Given the description of an element on the screen output the (x, y) to click on. 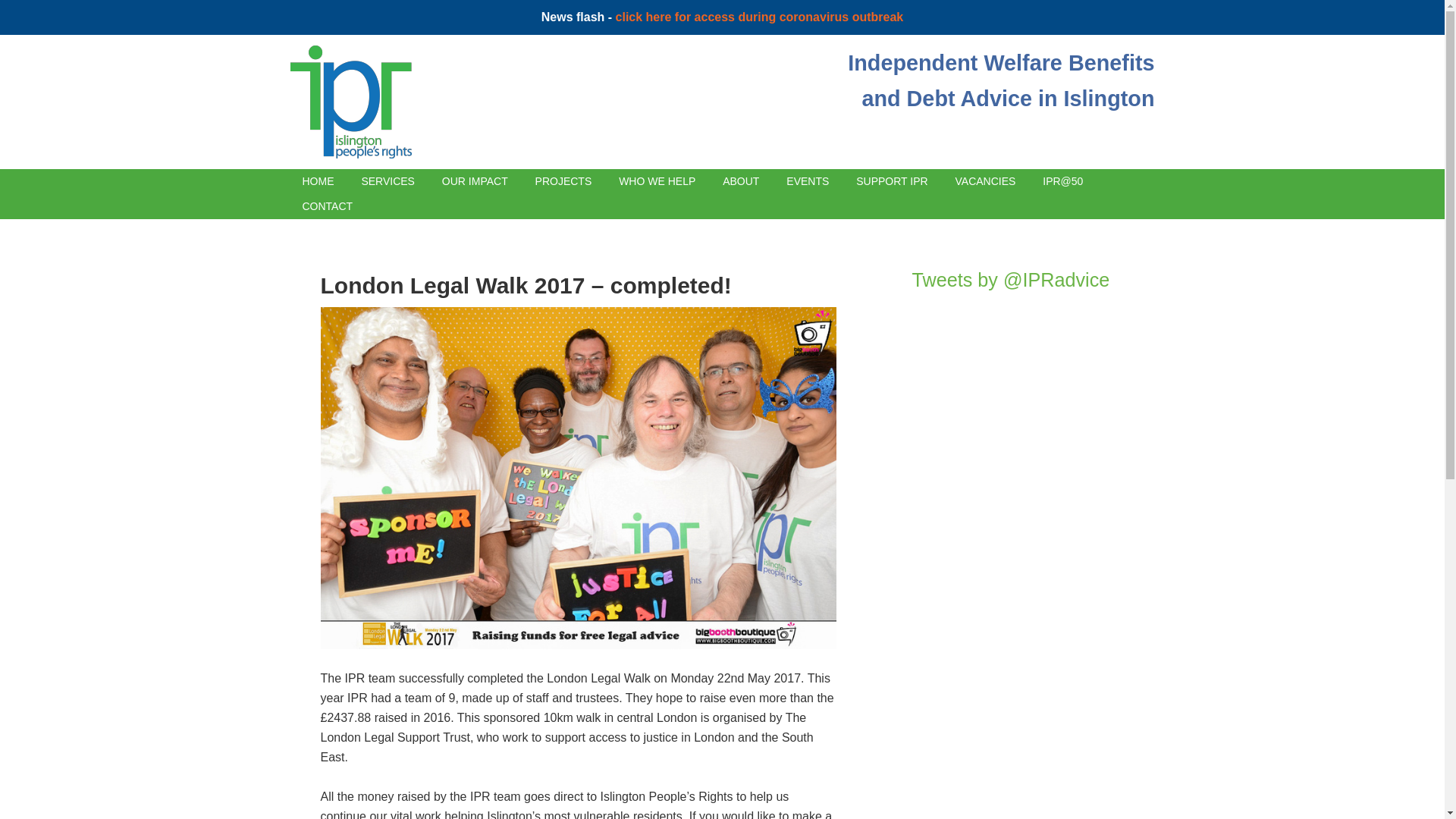
click here for access during coronavirus outbreak (759, 16)
VACANCIES (985, 181)
PROJECTS (563, 181)
OUR IMPACT (474, 181)
SERVICES (387, 181)
ABOUT (740, 181)
HOME (317, 181)
SUPPORT IPR (1000, 80)
EVENTS (891, 181)
